Given the description of an element on the screen output the (x, y) to click on. 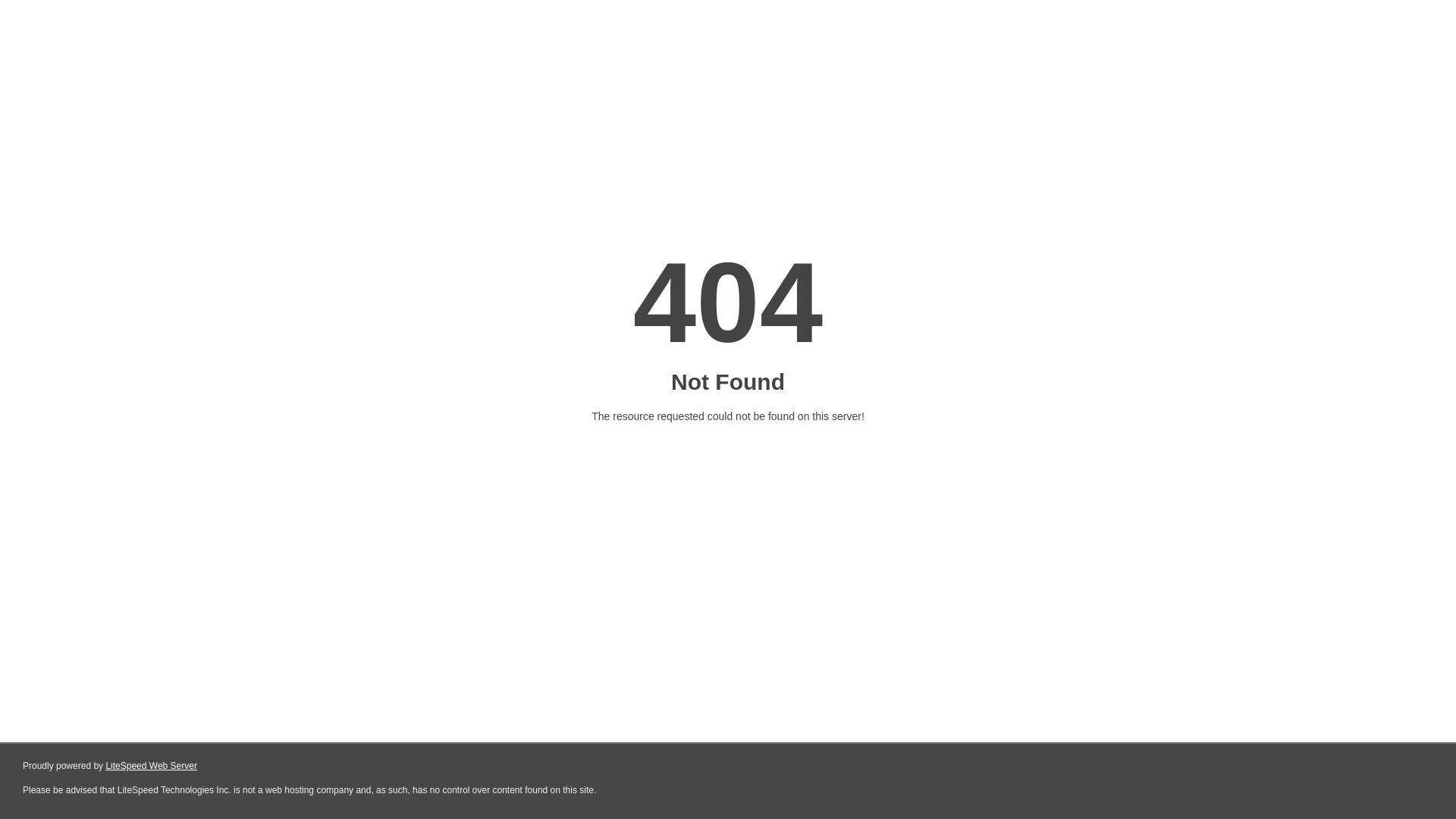
LiteSpeed Web Server Element type: text (151, 765)
